Given the description of an element on the screen output the (x, y) to click on. 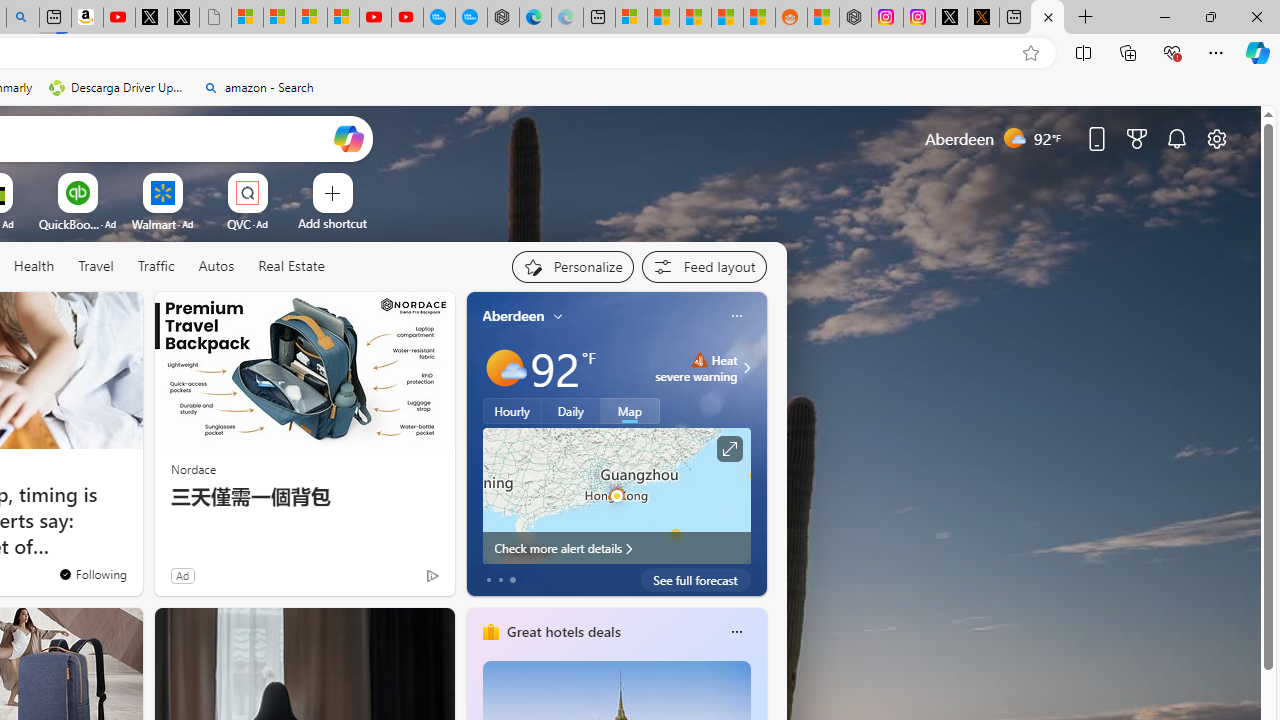
Feed settings (703, 266)
You're following FOX News (92, 573)
Health (33, 267)
Daily (571, 411)
Nordace - Nordace has arrived Hong Kong (502, 17)
My location (558, 315)
tab-1 (500, 579)
Heat - Severe Heat severe warning (696, 367)
Descarga Driver Updater (118, 88)
Map (630, 411)
